Given the description of an element on the screen output the (x, y) to click on. 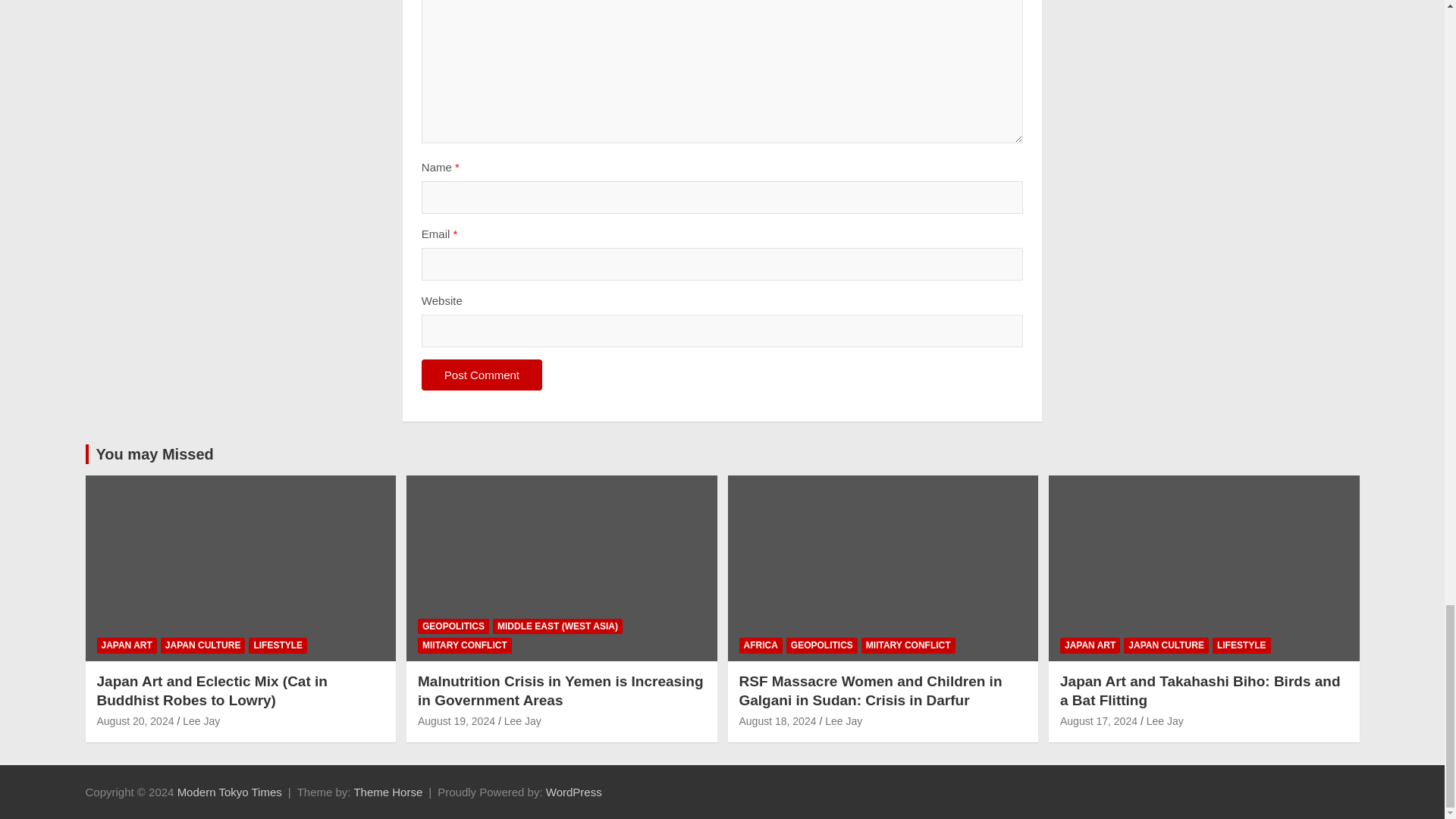
Modern Tokyo Times (229, 791)
Post Comment (481, 374)
LIFESTYLE (277, 645)
Lee Jay (201, 720)
Post Comment (481, 374)
Theme Horse (387, 791)
WordPress (574, 791)
GEOPOLITICS (453, 626)
You may Missed (154, 453)
August 20, 2024 (135, 720)
